Given the description of an element on the screen output the (x, y) to click on. 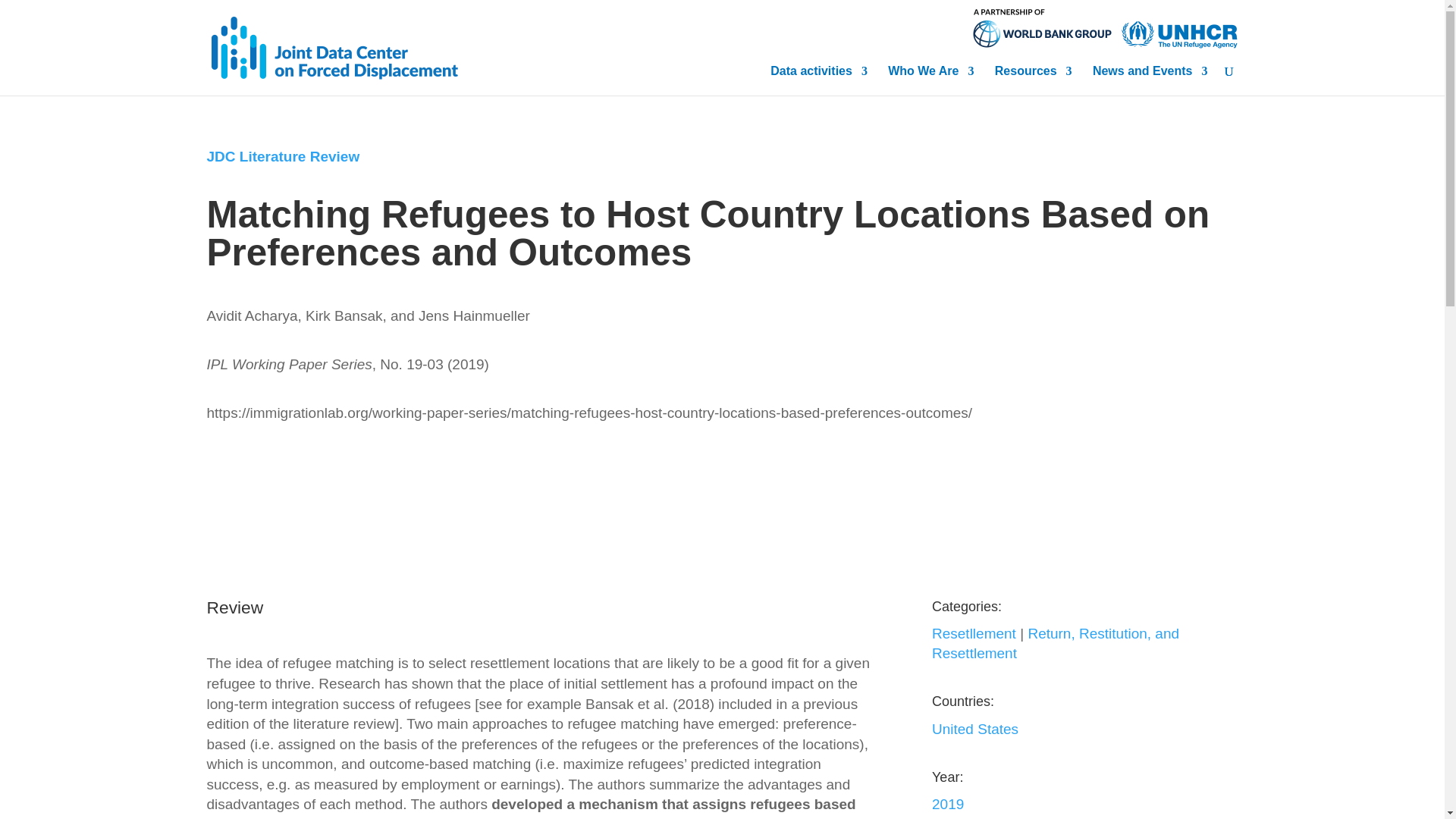
United States (974, 729)
Resources (1032, 76)
News and Events (1150, 76)
Data activities (818, 76)
Return, Restitution, and Resettlement (1055, 643)
Who We Are (931, 76)
JDC Literature Review (282, 156)
2019 (947, 804)
Resetllement (973, 633)
